Given the description of an element on the screen output the (x, y) to click on. 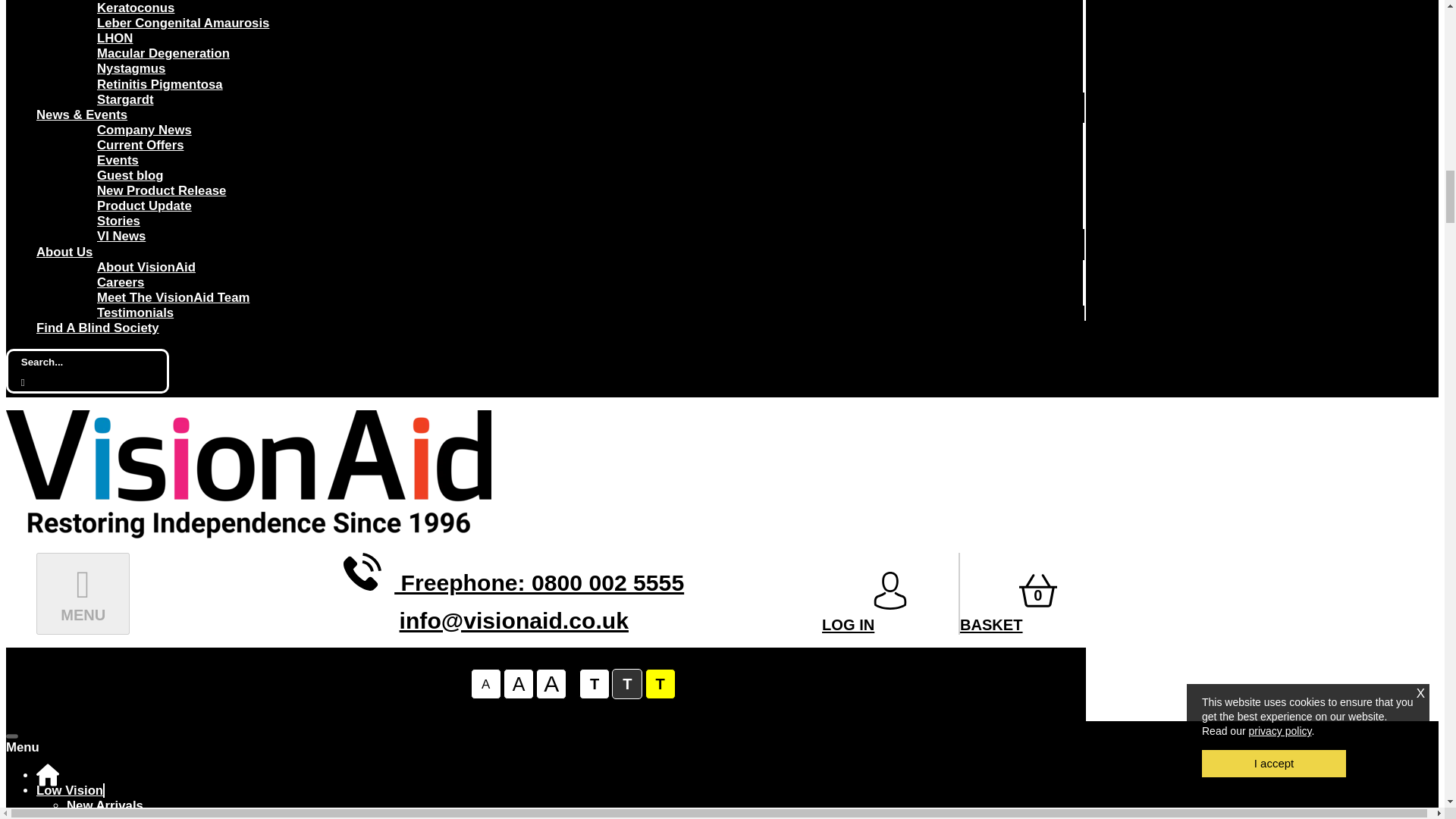
Search (80, 361)
